Given the description of an element on the screen output the (x, y) to click on. 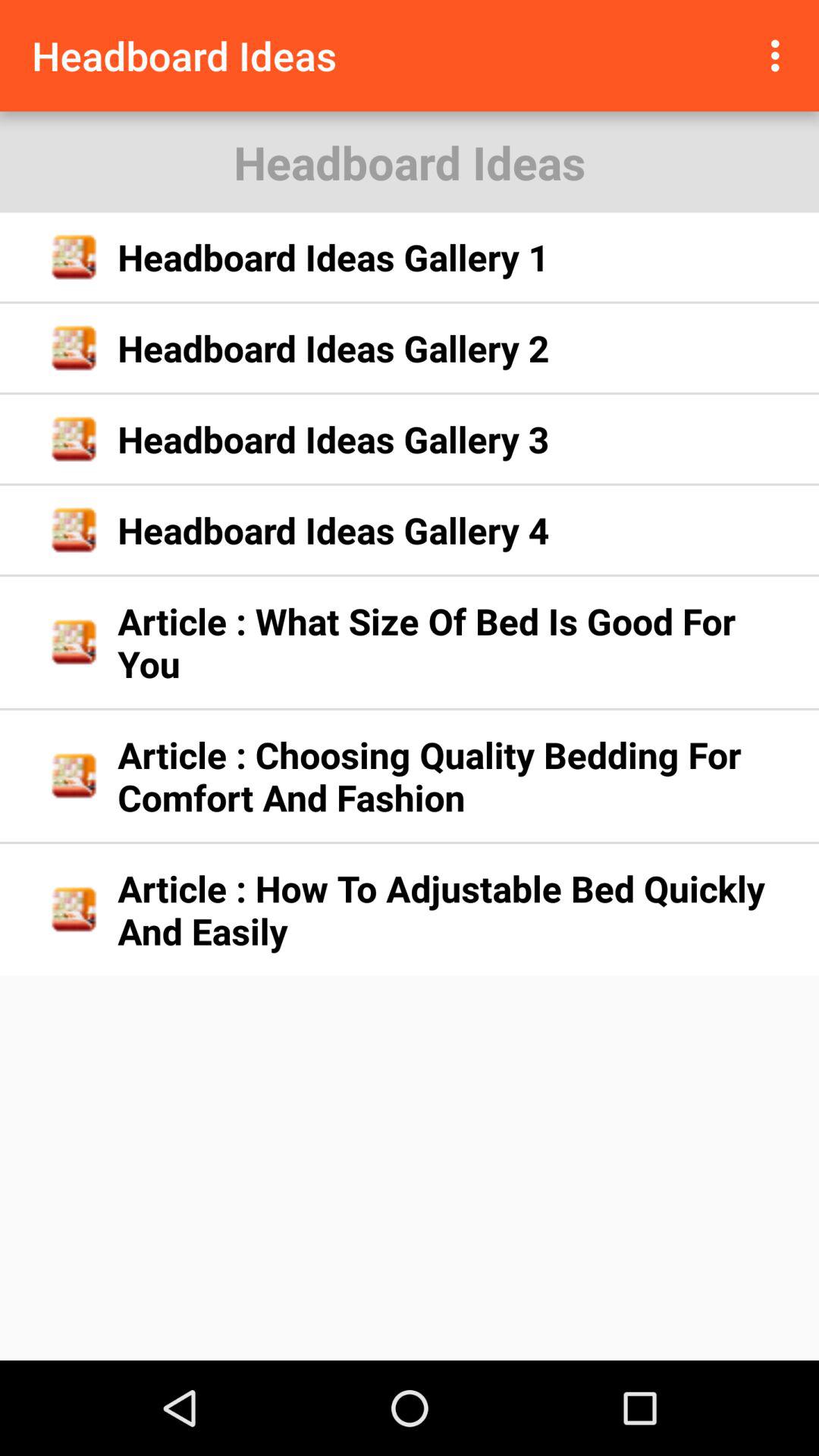
tap icon to the right of headboard ideas icon (779, 55)
